Given the description of an element on the screen output the (x, y) to click on. 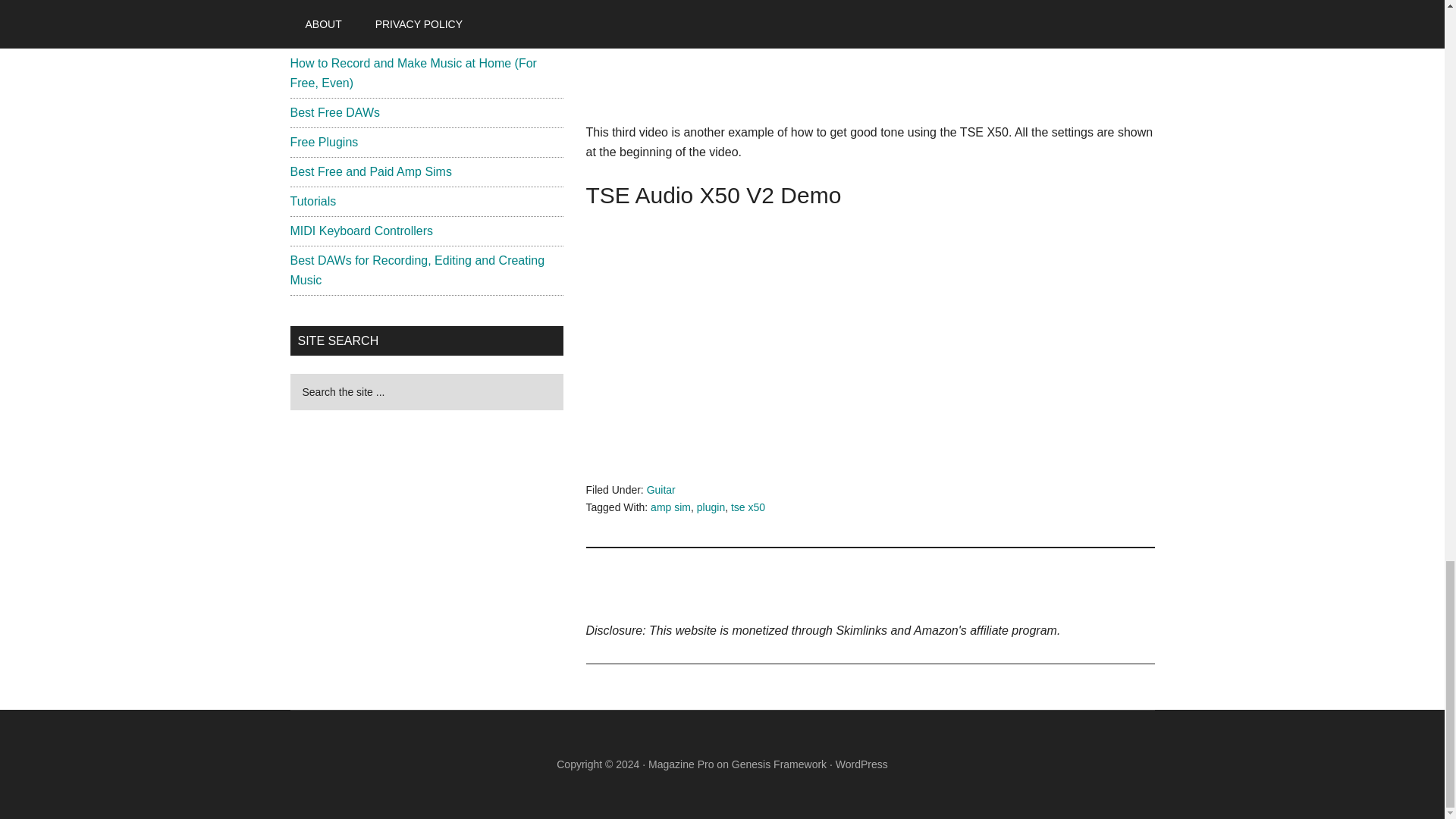
amp sim (670, 507)
tse x50 (747, 507)
Guitar (660, 490)
plugin (711, 507)
